Given the description of an element on the screen output the (x, y) to click on. 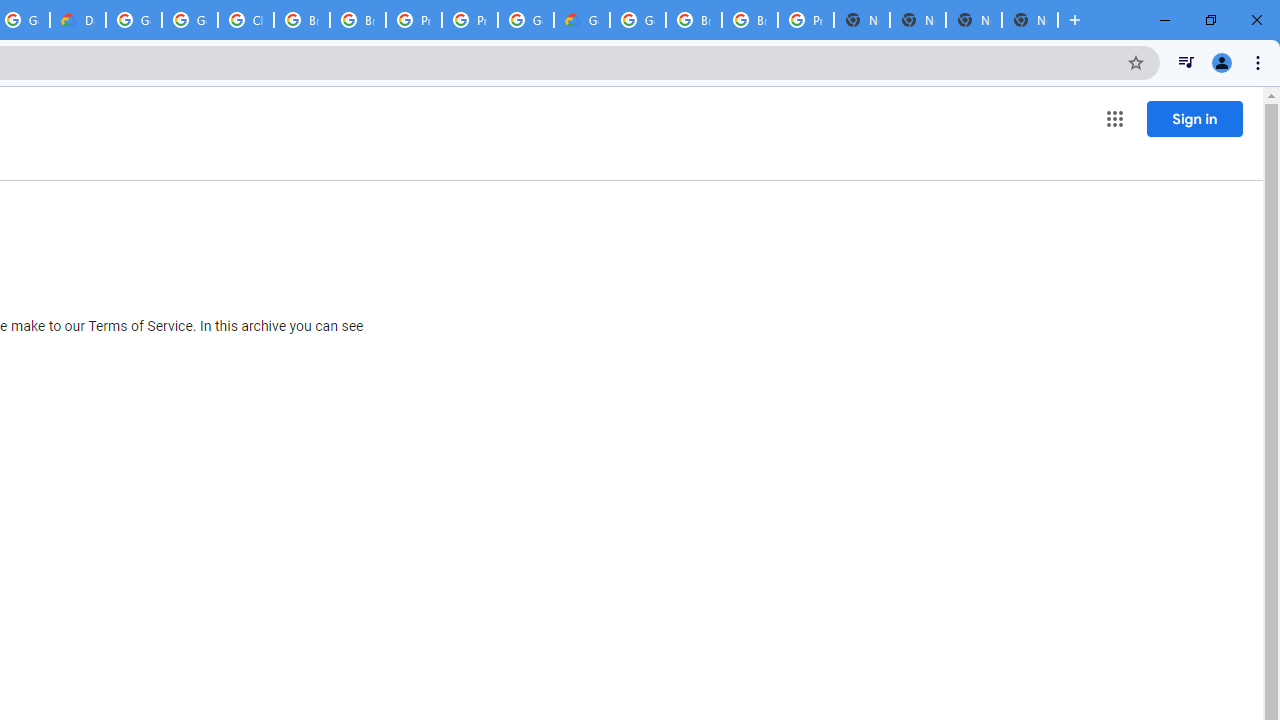
Browse Chrome as a guest - Computer - Google Chrome Help (301, 20)
New Tab (861, 20)
Browse Chrome as a guest - Computer - Google Chrome Help (693, 20)
Google Cloud Platform (525, 20)
